Given the description of an element on the screen output the (x, y) to click on. 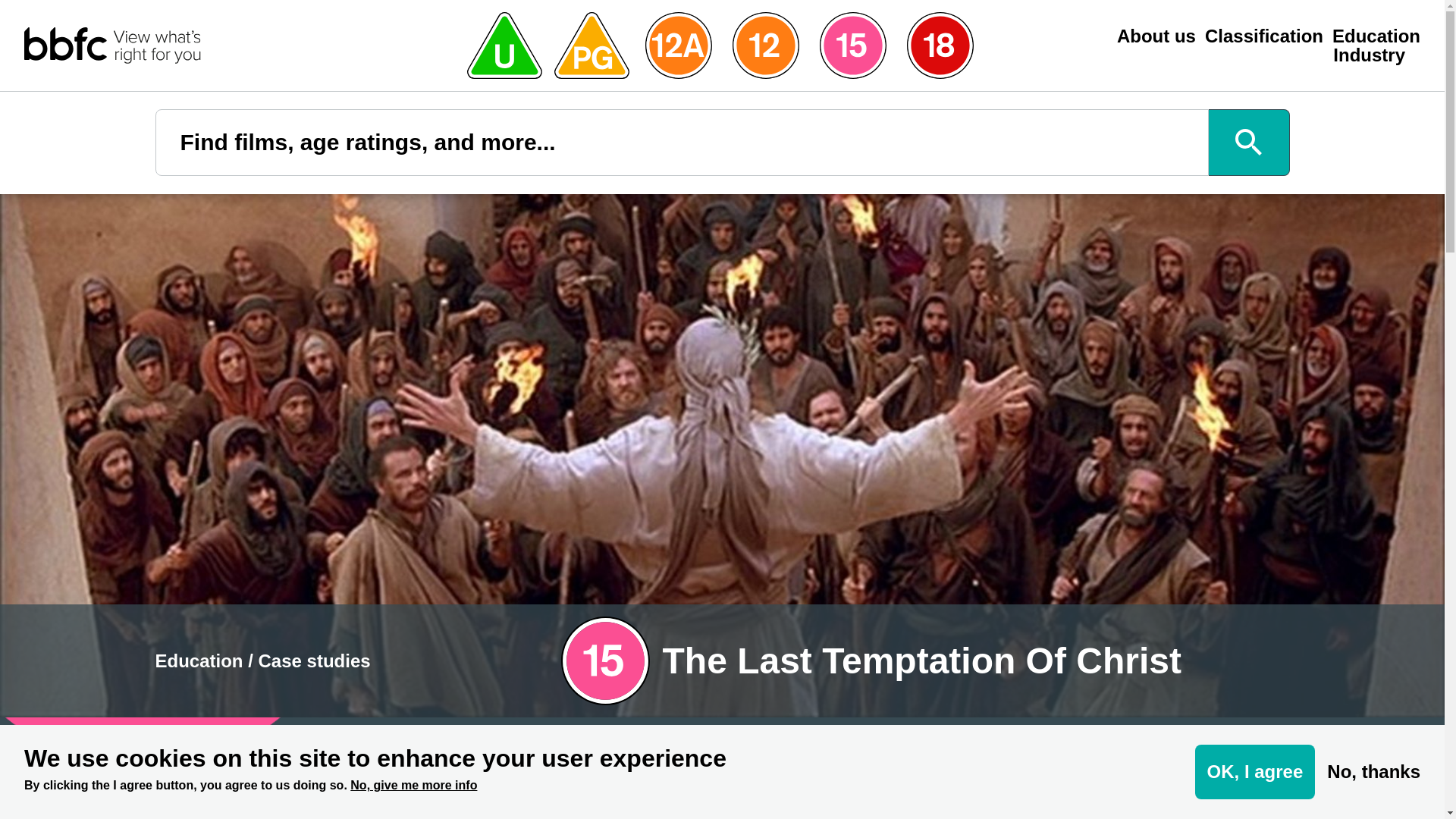
Case studies (315, 660)
No, give me more info (413, 784)
Education (1376, 36)
Classification (1264, 36)
About us (1155, 36)
No, thanks (1373, 771)
Education (198, 660)
Industry (1369, 54)
OK, I agree (1255, 771)
